Given the description of an element on the screen output the (x, y) to click on. 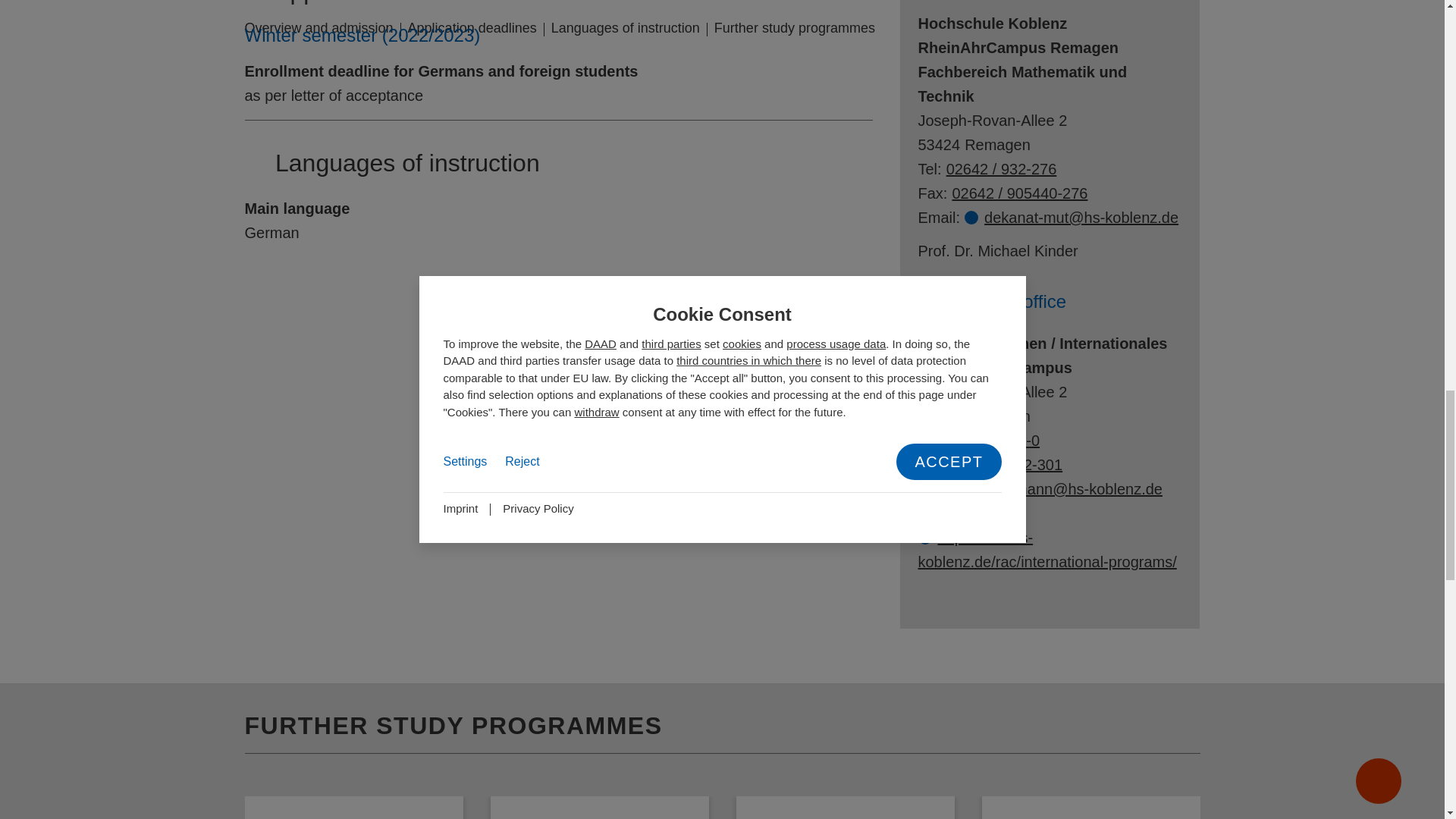
Page opens in new window (1046, 549)
